Given the description of an element on the screen output the (x, y) to click on. 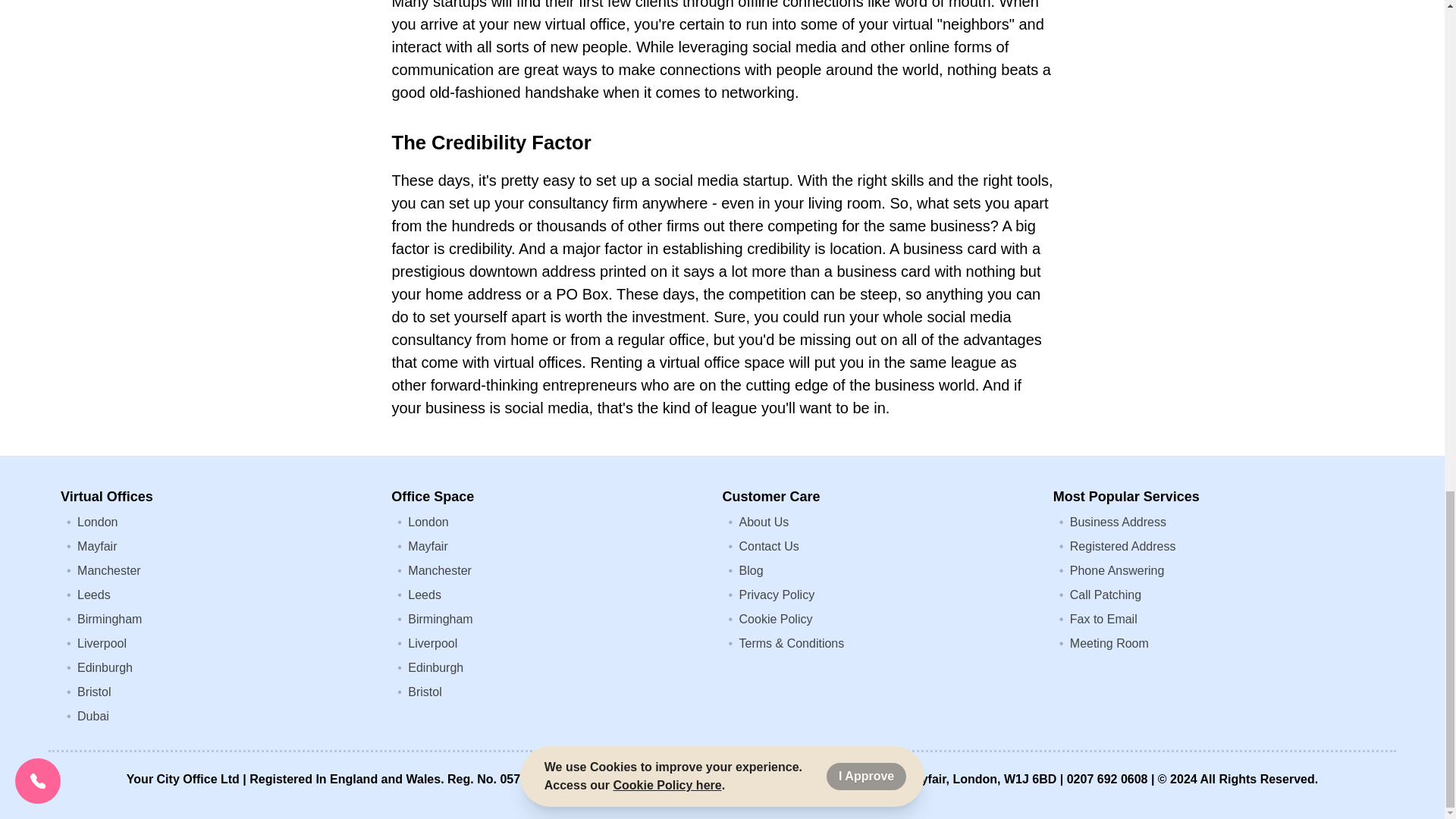
Manchester (109, 570)
Mayfair (426, 545)
Edinburgh (104, 667)
Manchester (439, 570)
London (97, 521)
Edinburgh (435, 667)
Mayfair (96, 545)
Liverpool (432, 643)
Leeds (93, 594)
Leeds (424, 594)
Birmingham (439, 618)
Bristol (93, 691)
Dubai (93, 716)
London (427, 521)
Bristol (424, 691)
